Given the description of an element on the screen output the (x, y) to click on. 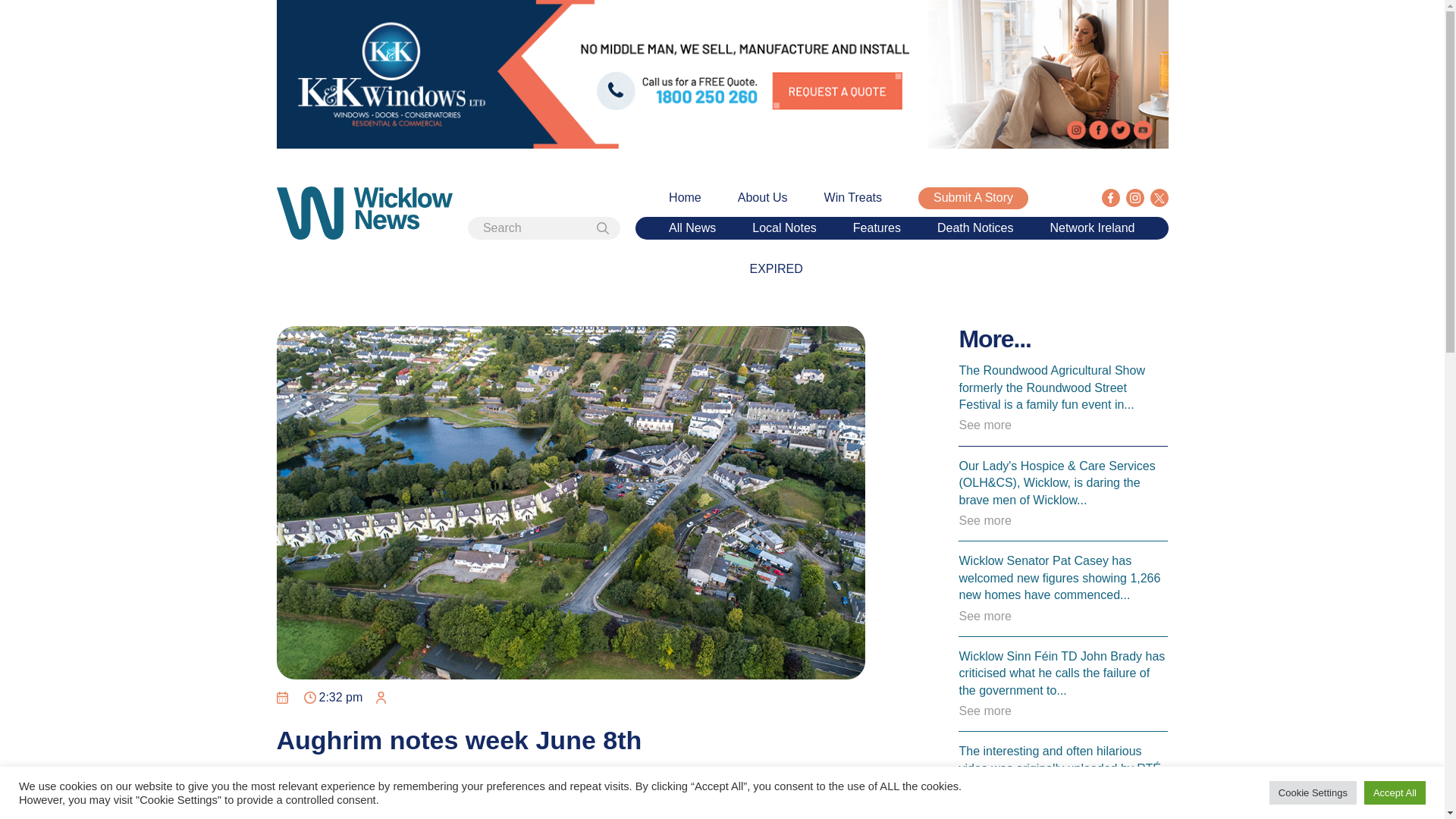
Network Ireland (1091, 228)
Submit A Story (972, 197)
About Us (762, 197)
All News (691, 228)
Death Notices (975, 228)
Local Notes (783, 228)
Features (876, 228)
Win Treats (853, 197)
Home (684, 197)
